Given the description of an element on the screen output the (x, y) to click on. 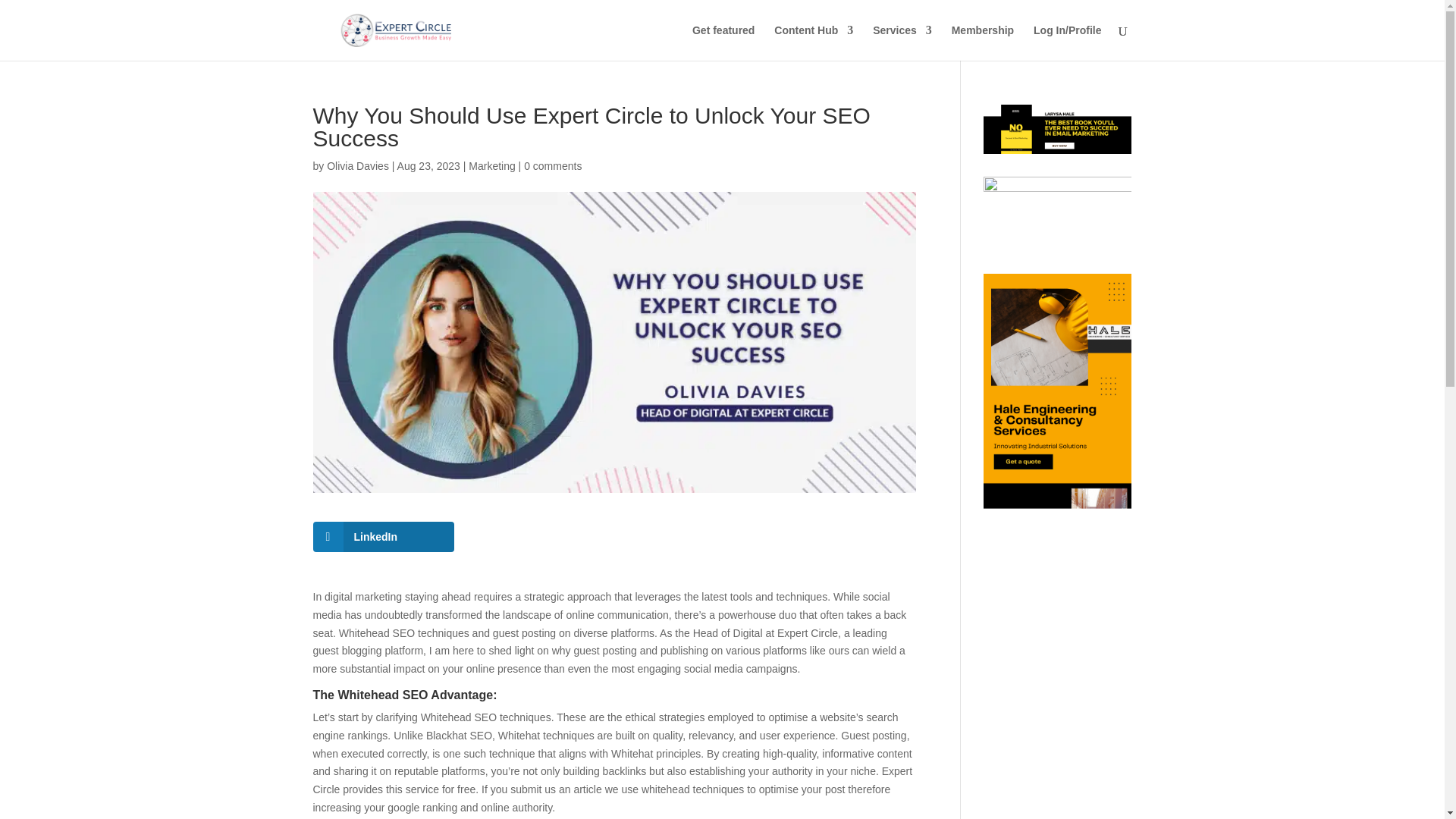
Membership (982, 42)
Posts by Olivia Davies (357, 165)
Olivia Davies (357, 165)
Marketing (491, 165)
LinkedIn (383, 536)
Services (901, 42)
Content Hub (813, 42)
Get featured (723, 42)
0 comments (552, 165)
